Given the description of an element on the screen output the (x, y) to click on. 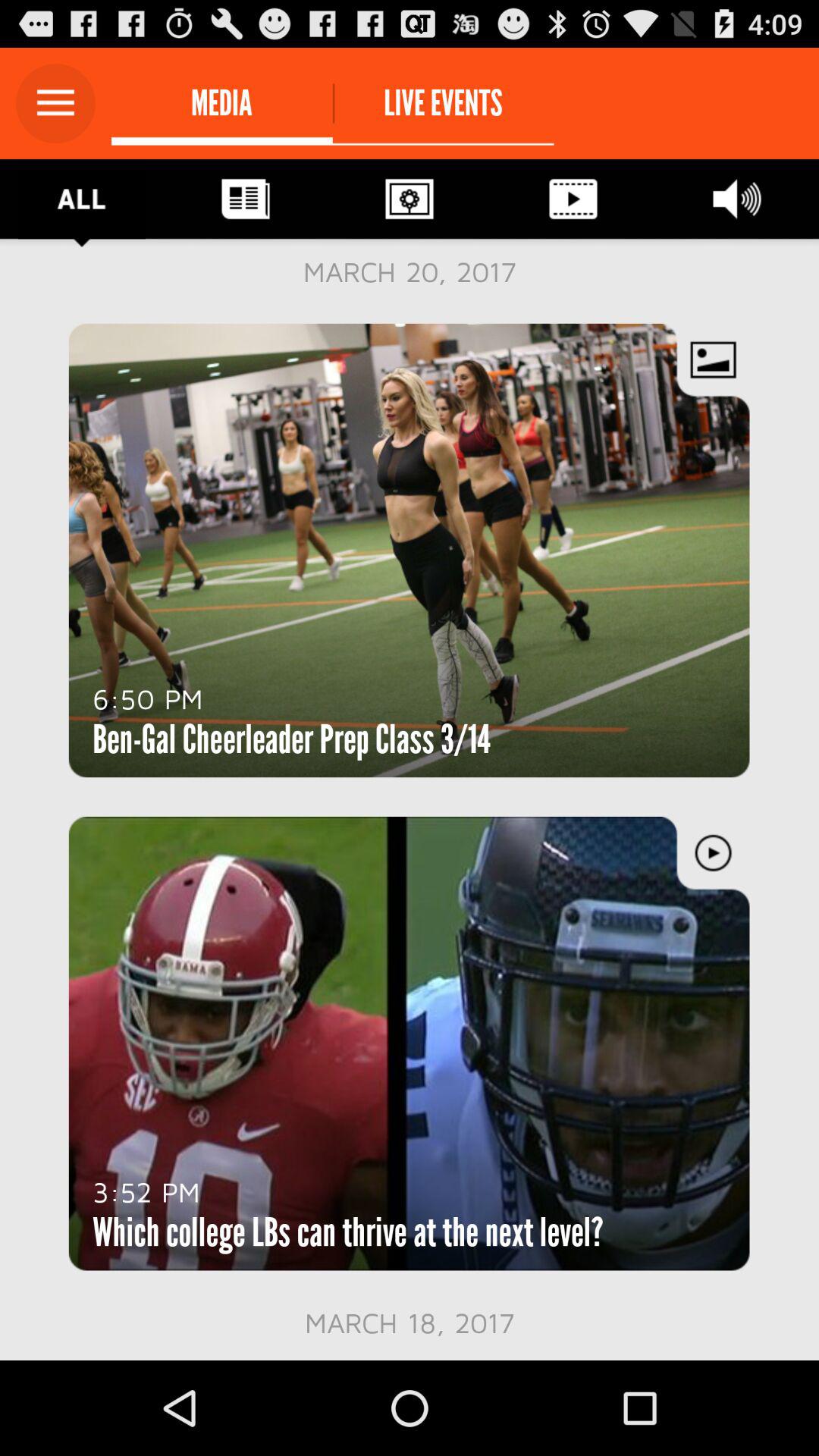
turn off the live events icon (442, 103)
